Given the description of an element on the screen output the (x, y) to click on. 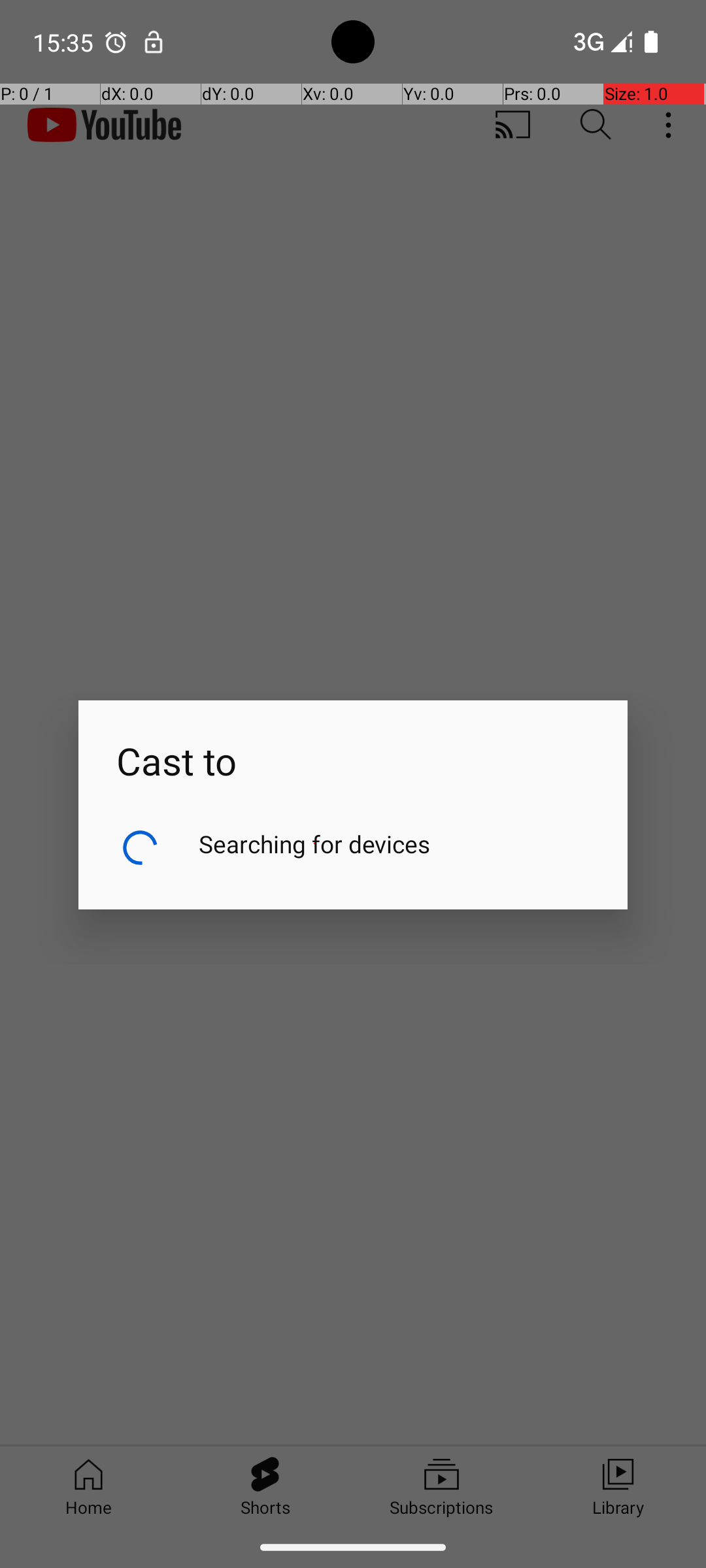
Cast to Element type: android.widget.TextView (352, 742)
Searching for devices Element type: android.widget.TextView (314, 843)
